Given the description of an element on the screen output the (x, y) to click on. 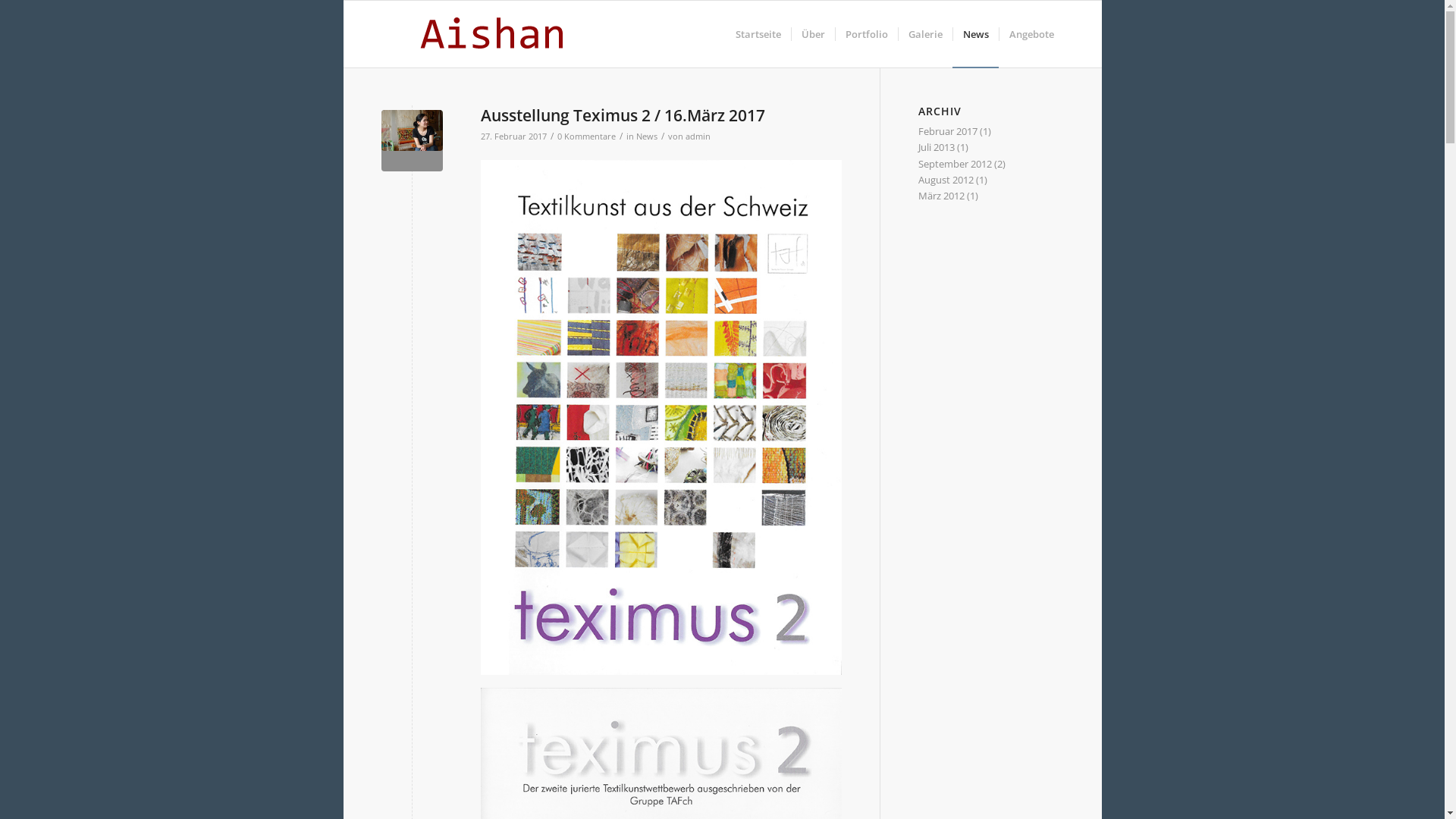
September 2012 Element type: text (954, 163)
News Element type: text (645, 136)
August 2012 Element type: text (944, 179)
Galerie Element type: text (924, 33)
aishan Element type: hover (411, 140)
Startseite Element type: text (757, 33)
Angebote Element type: text (1030, 33)
0 Kommentare Element type: text (585, 136)
Portfolio Element type: text (865, 33)
Februar 2017 Element type: text (946, 131)
News Element type: text (975, 33)
Juli 2013 Element type: text (935, 146)
admin Element type: text (697, 136)
